Given the description of an element on the screen output the (x, y) to click on. 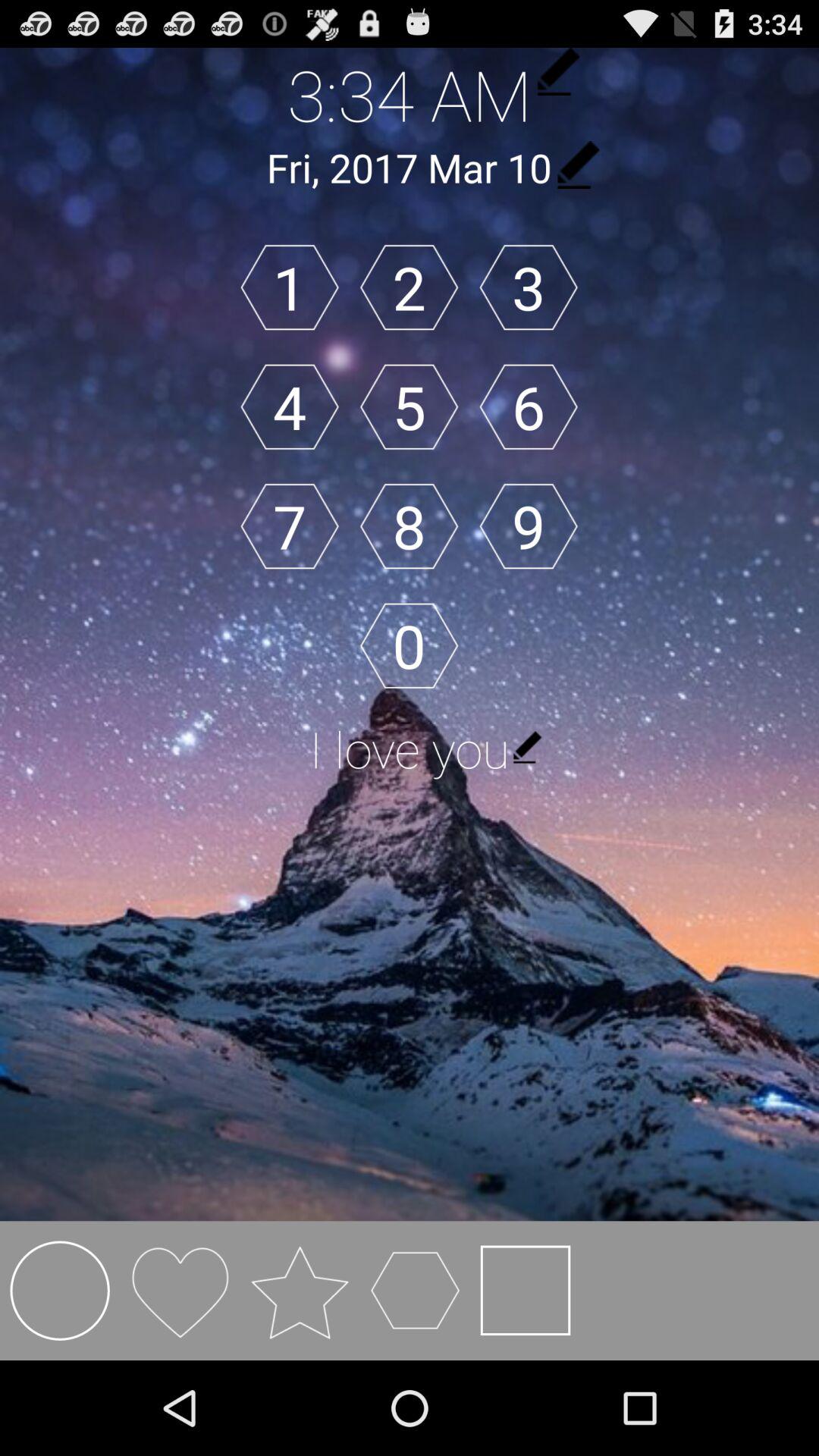
turn on app below fri 2017 mar item (289, 287)
